Given the description of an element on the screen output the (x, y) to click on. 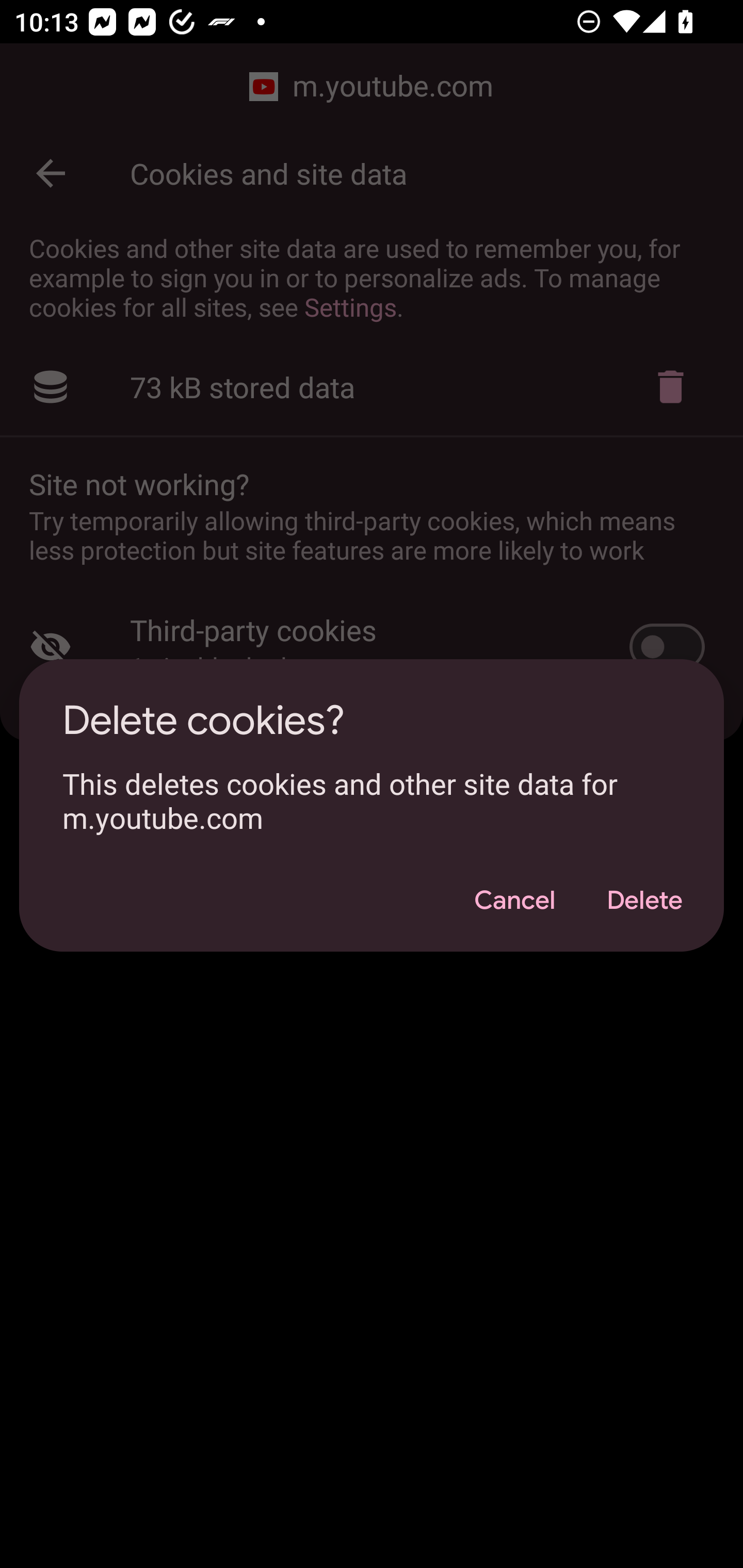
Cancel (514, 900)
Delete (644, 900)
